Given the description of an element on the screen output the (x, y) to click on. 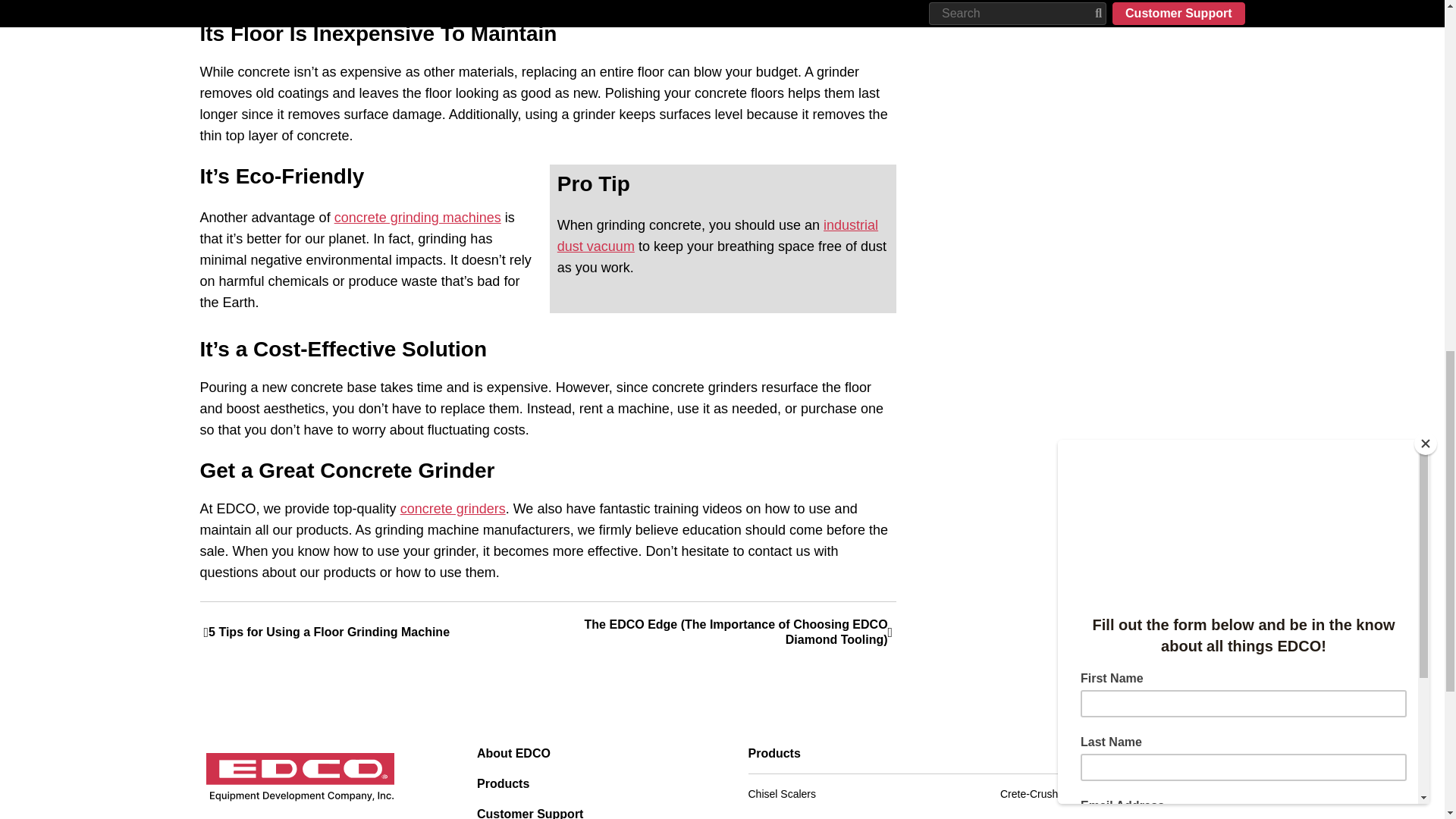
5 Tips for Using a Floor Grinding Machine (376, 631)
industrial dust vacuum (717, 235)
Products (587, 783)
About EDCO (587, 753)
concrete grinders (452, 508)
Customer Support (587, 812)
concrete grinding machines (417, 217)
